Given the description of an element on the screen output the (x, y) to click on. 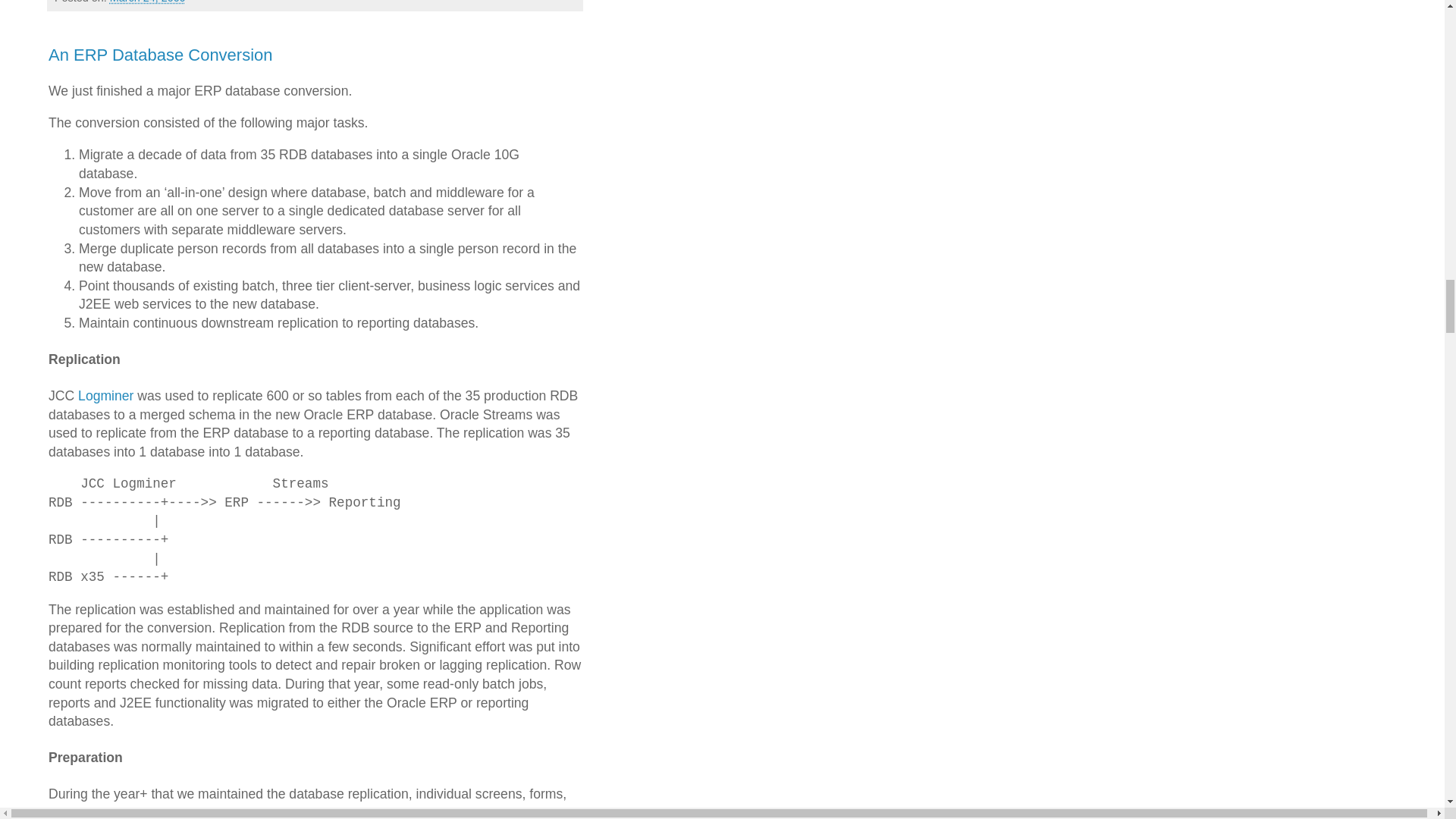
permanent link (148, 2)
Logminer (105, 395)
March 24, 2009 (148, 2)
An ERP Database Conversion (160, 54)
